Given the description of an element on the screen output the (x, y) to click on. 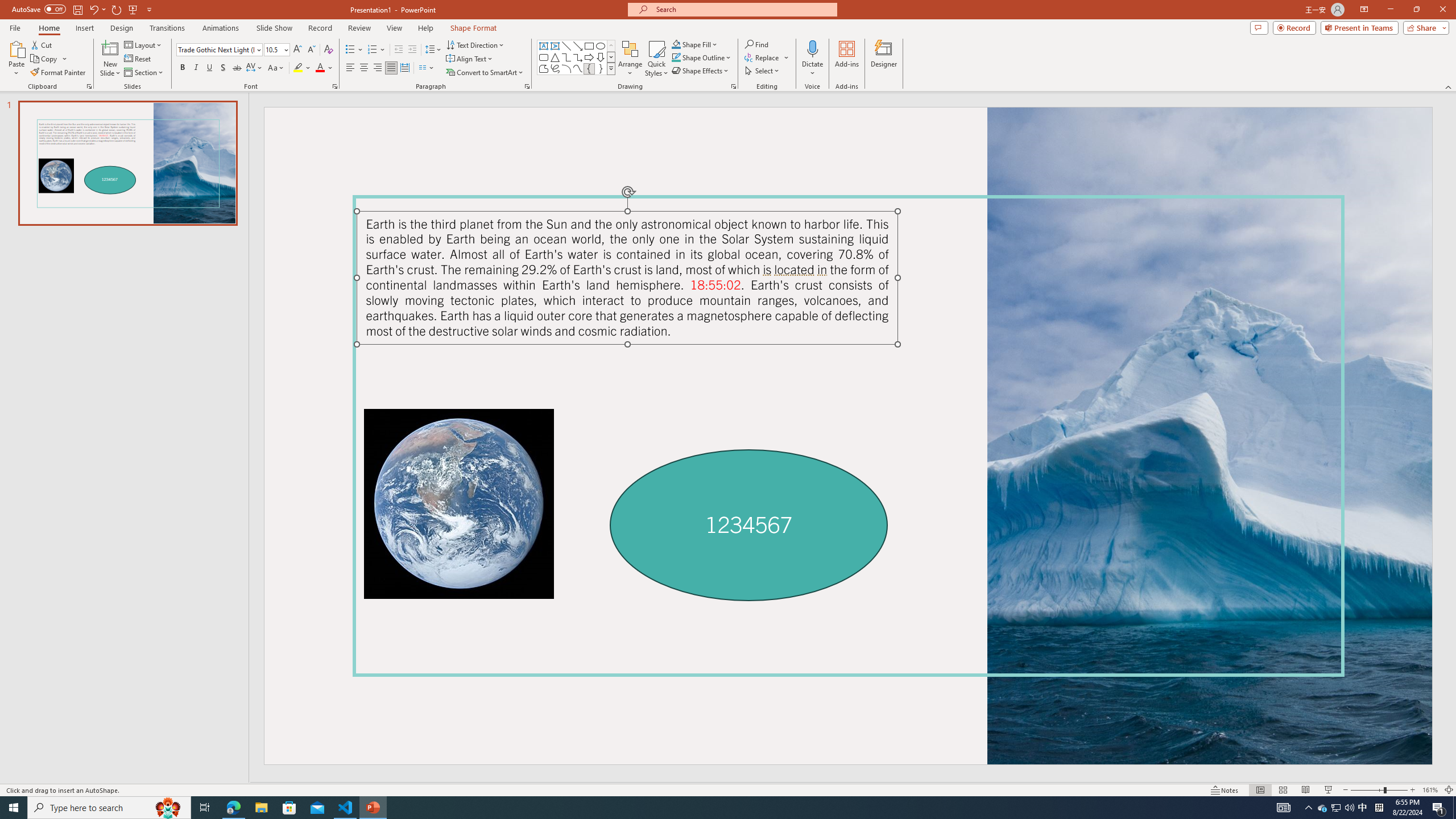
Line Spacing (433, 49)
Format Painter (58, 72)
Copy (45, 58)
Align Right (377, 67)
Text Highlight Color (302, 67)
Layout (143, 44)
Shape Outline Teal, Accent 1 (675, 56)
Text Direction (476, 44)
Connector: Elbow (566, 57)
Arc (566, 68)
Shape Fill Aqua, Accent 2 (675, 44)
Copy (49, 58)
